Given the description of an element on the screen output the (x, y) to click on. 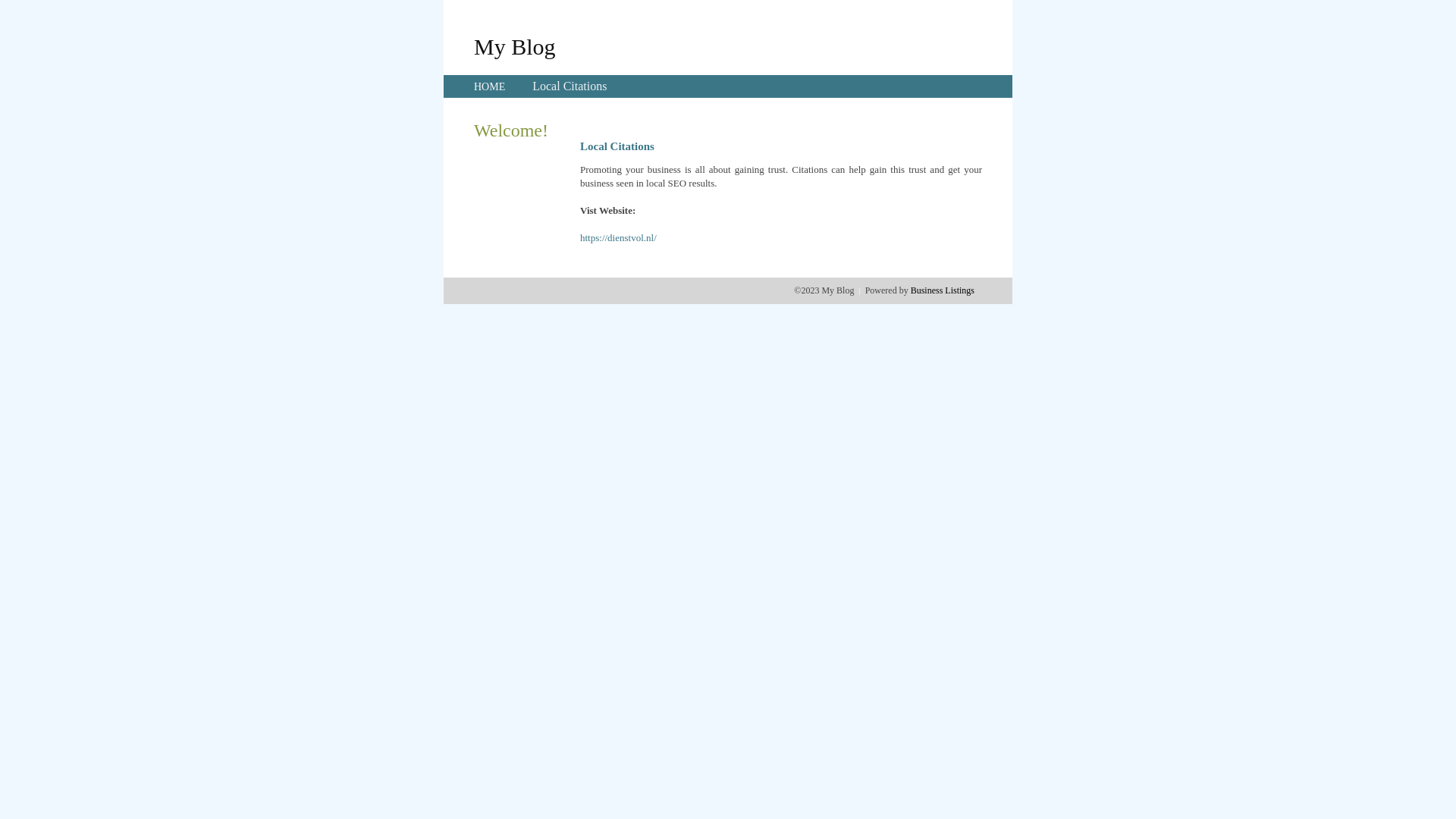
HOME Element type: text (489, 86)
https://dienstvol.nl/ Element type: text (618, 237)
My Blog Element type: text (514, 46)
Local Citations Element type: text (569, 85)
Business Listings Element type: text (942, 290)
